Given the description of an element on the screen output the (x, y) to click on. 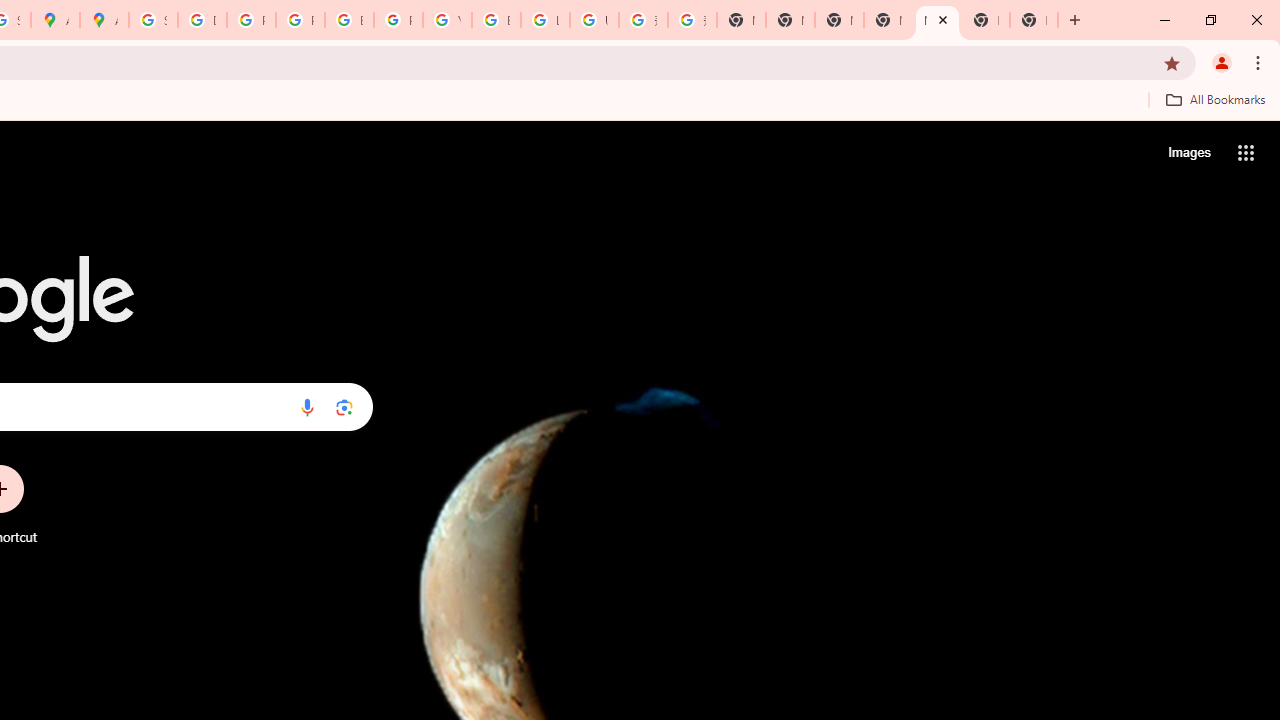
New Tab (985, 20)
New Tab (888, 20)
